Given the description of an element on the screen output the (x, y) to click on. 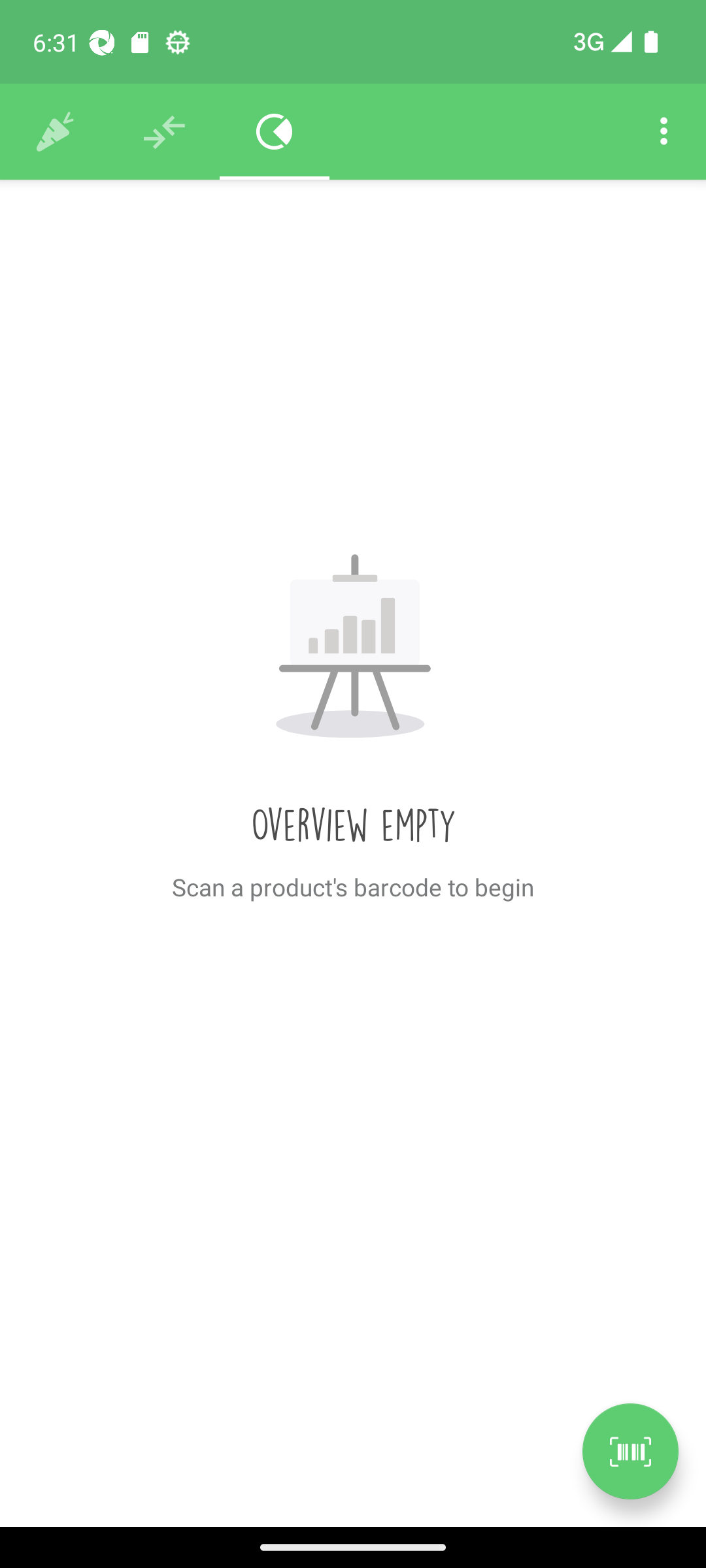
History (55, 131)
Recommendations (164, 131)
Settings (663, 131)
Scan a product (630, 1451)
